Given the description of an element on the screen output the (x, y) to click on. 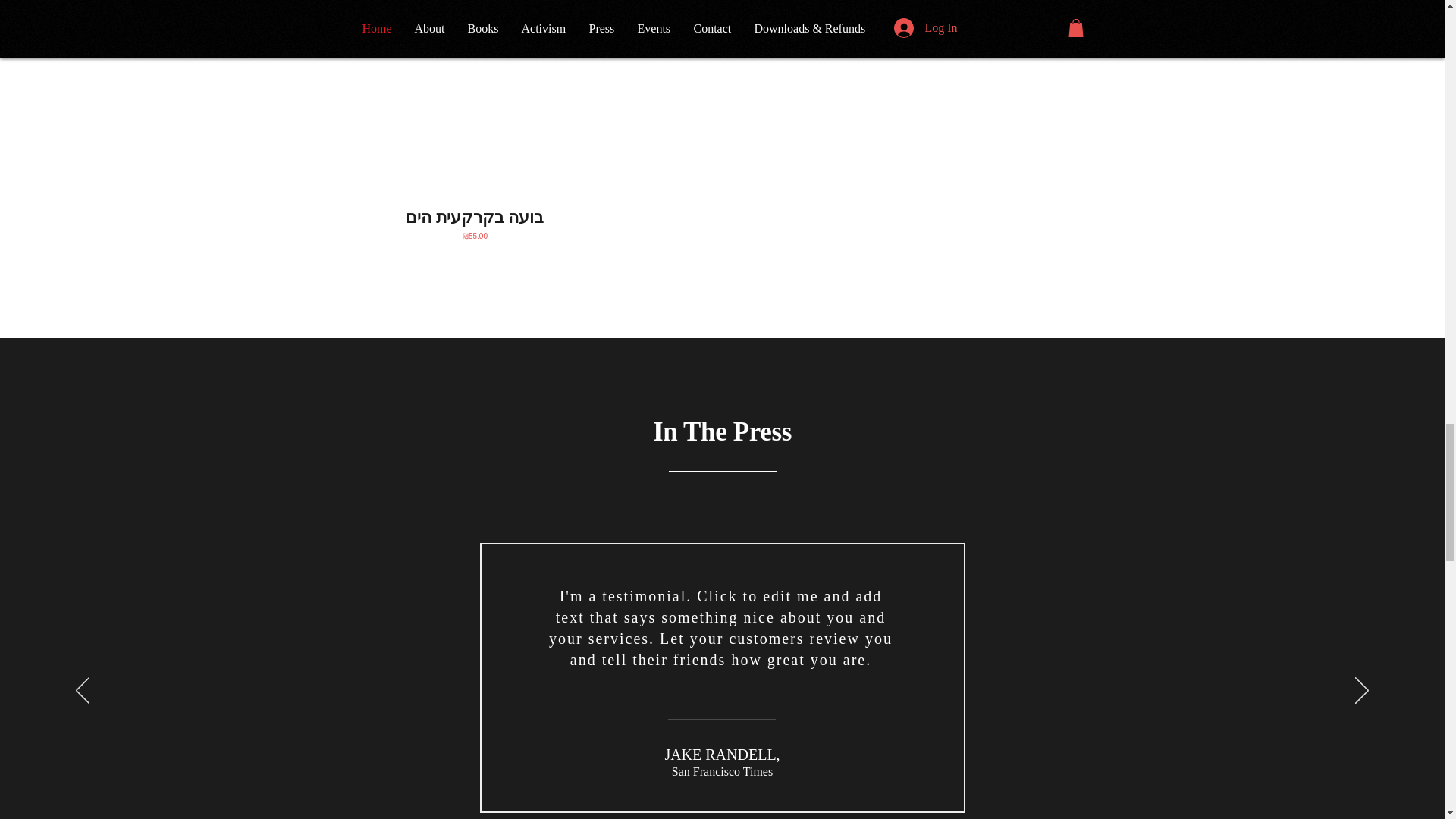
Now Available! (475, 97)
